Given the description of an element on the screen output the (x, y) to click on. 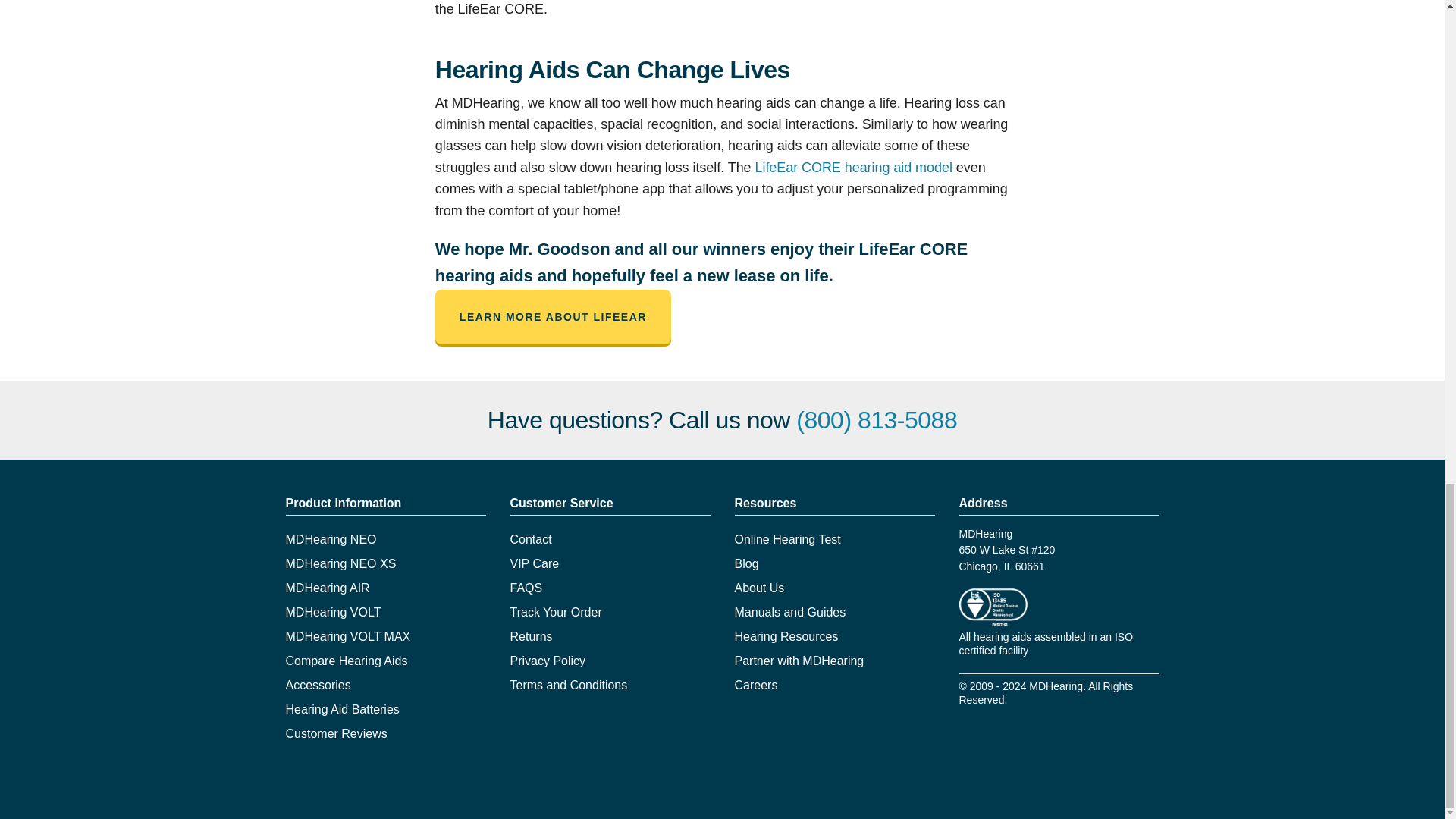
MDHearing NEO XS (340, 563)
LifeEar CORE hearing aid model (853, 167)
LEARN MORE ABOUT LIFEEAR (553, 316)
MDHearing NEO (330, 539)
MDHearing VOLT MAX (347, 635)
MDHearing VOLT (332, 612)
MDHearing AIR (327, 587)
